Given the description of an element on the screen output the (x, y) to click on. 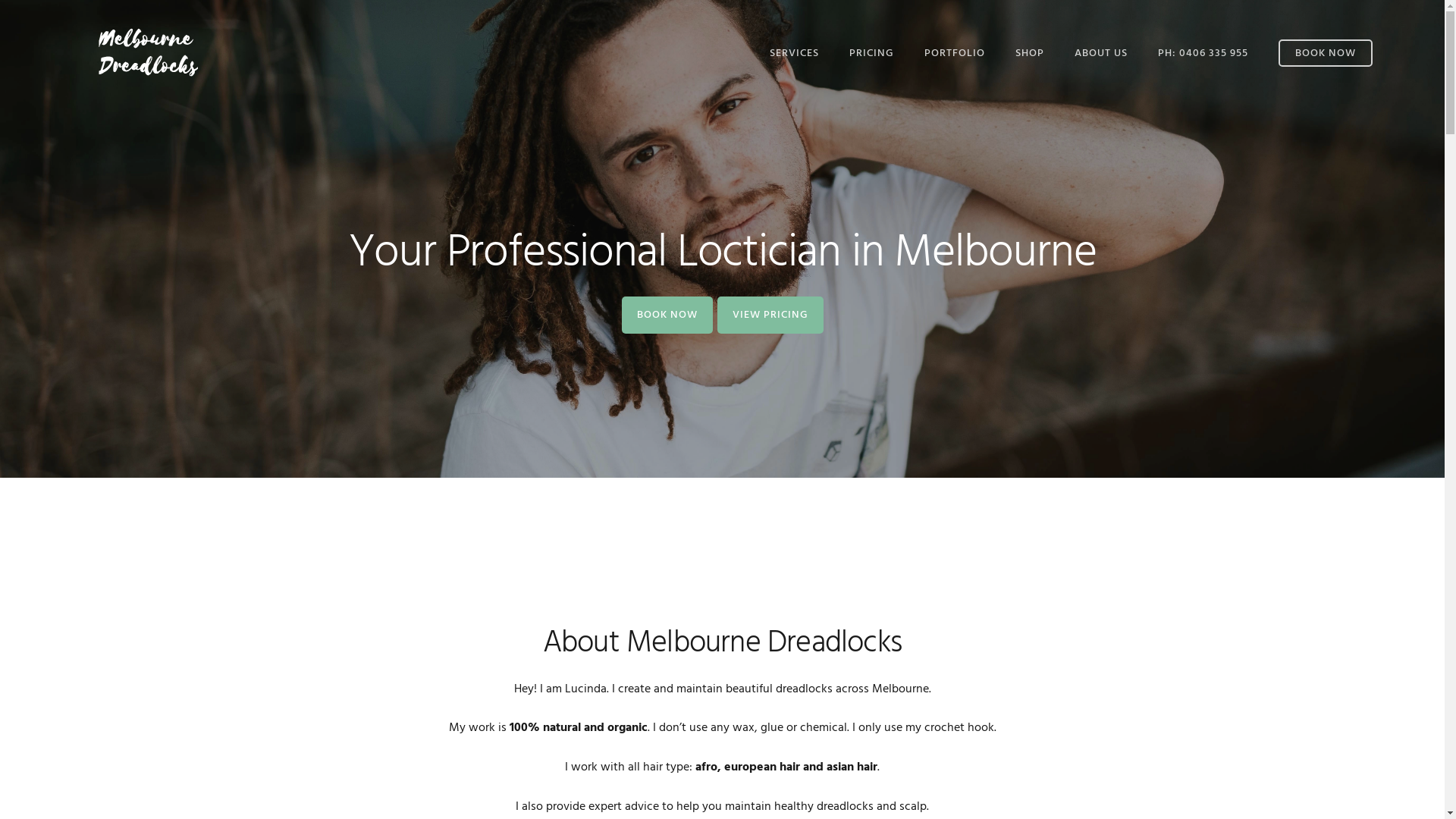
PORTFOLIO Element type: text (954, 53)
Skip to primary navigation Element type: text (0, 0)
SERVICES Element type: text (794, 53)
SHOP Element type: text (1029, 53)
BOOK NOW Element type: text (666, 313)
VIEW PRICING Element type: text (770, 313)
PRICING Element type: text (871, 53)
Melbourne Dreadlocks Element type: text (147, 50)
BOOK NOW Element type: text (1325, 52)
ABOUT US Element type: text (1100, 53)
PH: 0406 335 955 Element type: text (1202, 53)
